Given the description of an element on the screen output the (x, y) to click on. 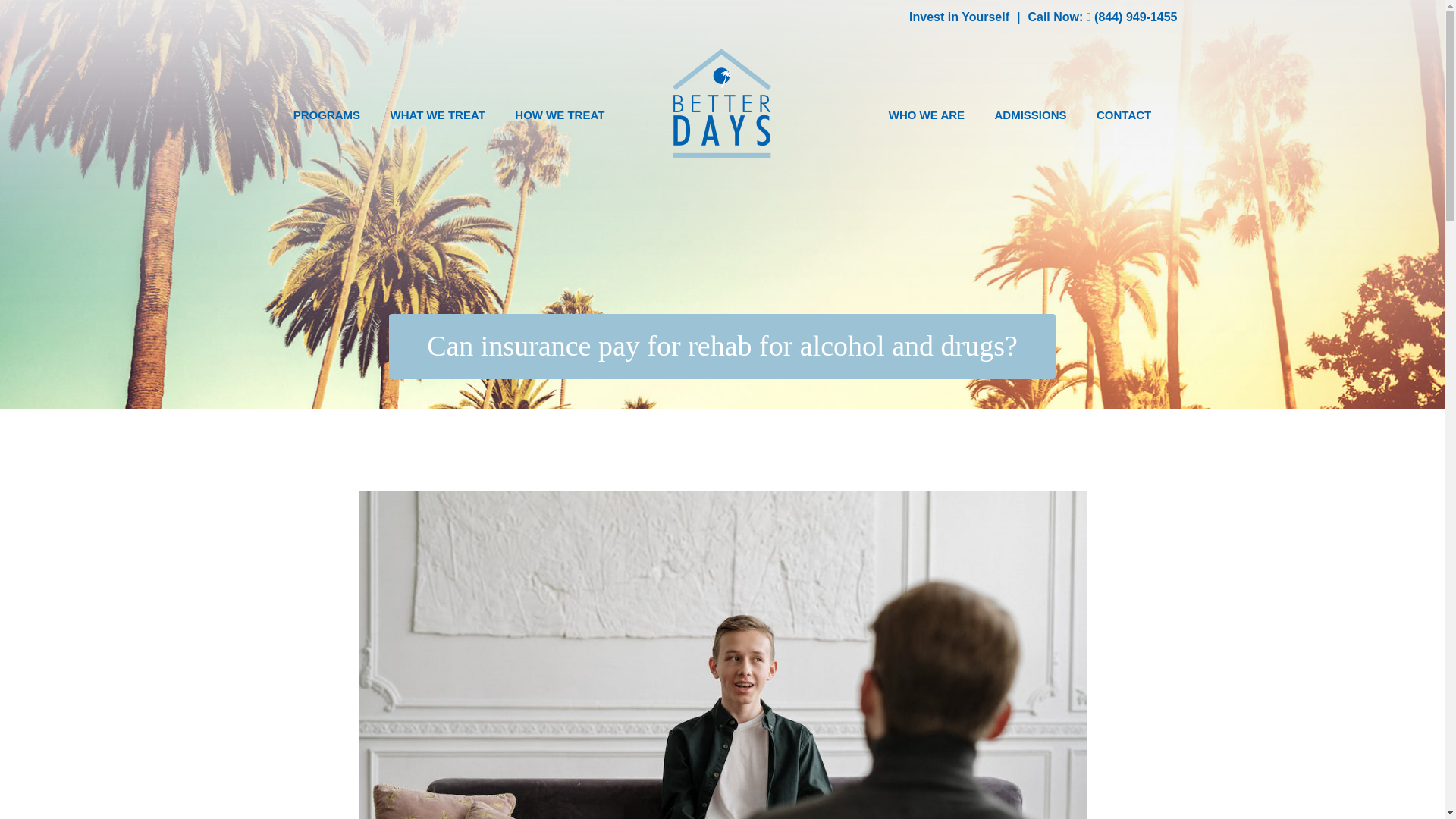
WHAT WE TREAT (437, 116)
HOW WE TREAT (559, 116)
logo (721, 103)
ADMISSIONS (1031, 116)
CONTACT (1122, 116)
WHO WE ARE (926, 116)
PROGRAMS (326, 116)
